Given the description of an element on the screen output the (x, y) to click on. 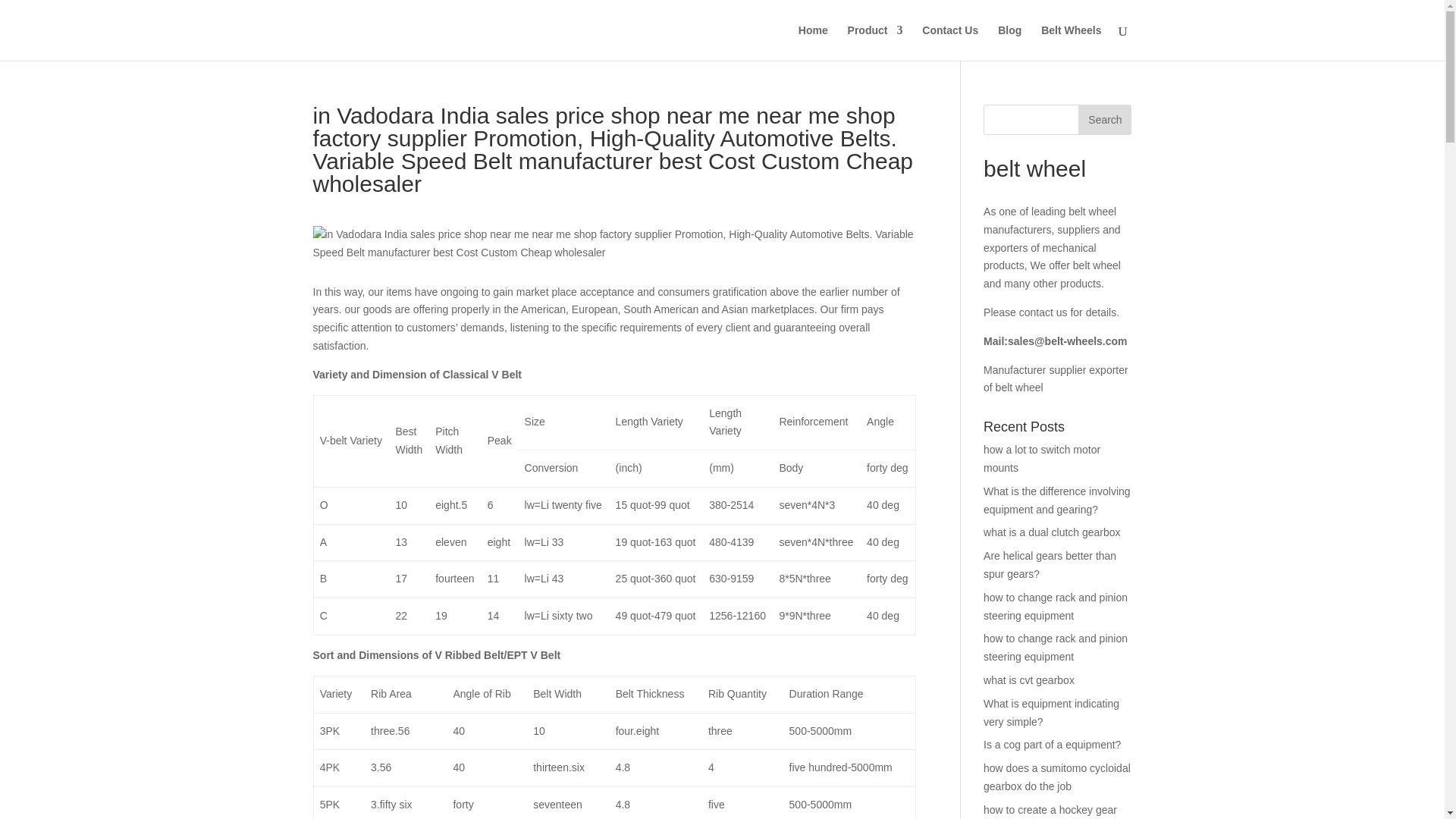
What is the difference involving equipment and gearing? (1057, 500)
how to create a hockey gear drying rack (1050, 811)
What is equipment indicating very simple? (1051, 712)
what is a dual clutch gearbox (1052, 532)
Search (1104, 119)
Are helical gears better than spur gears? (1050, 564)
what is cvt gearbox (1029, 680)
how a lot to switch motor mounts (1042, 458)
how to change rack and pinion steering equipment (1055, 647)
Is a cog part of a equipment? (1052, 744)
